Given the description of an element on the screen output the (x, y) to click on. 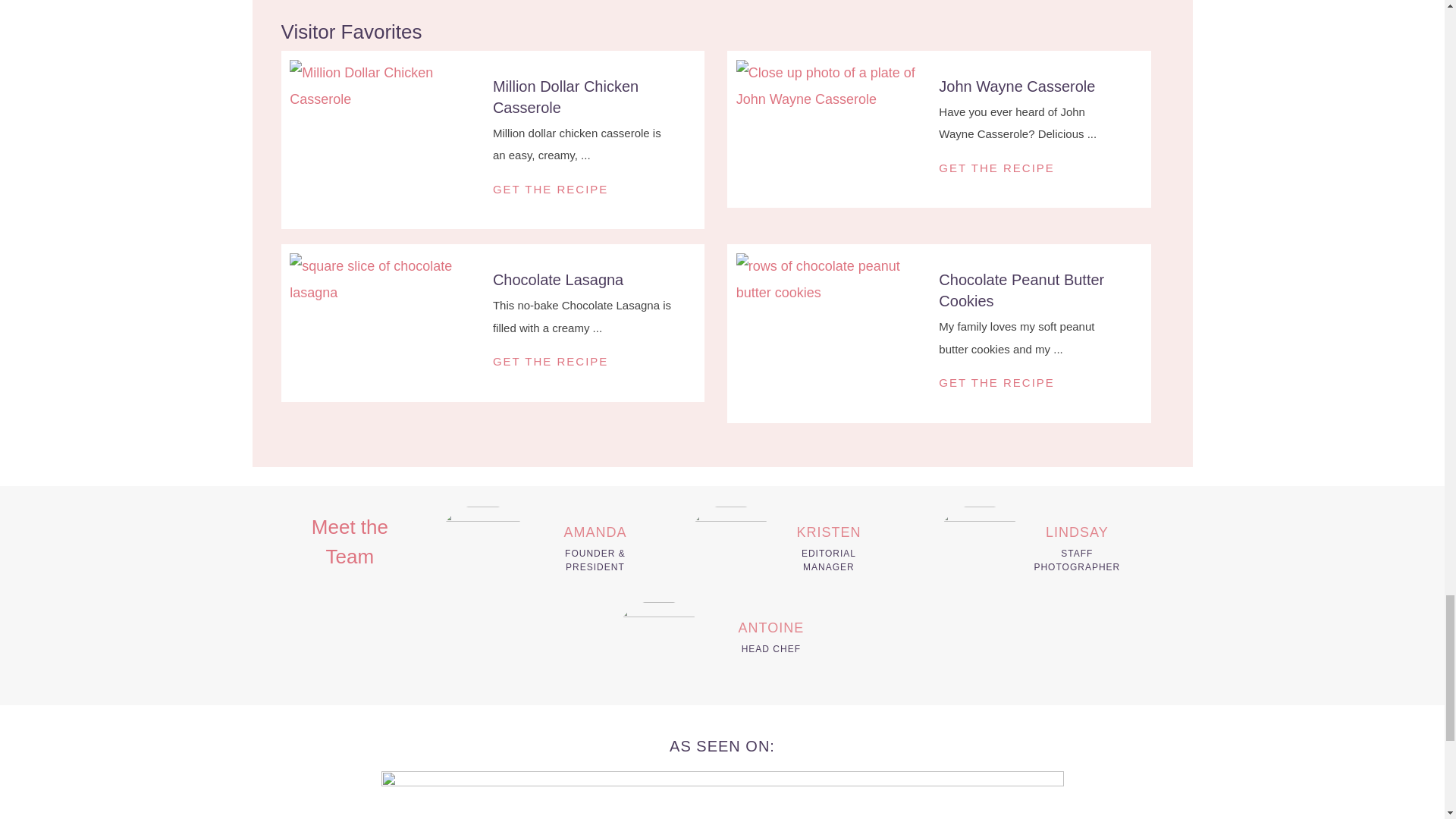
John Wayne Casserole (1016, 86)
Chocolate Lasagna (386, 280)
Chocolate Peanut Butter Cookies (833, 280)
John Wayne Casserole (833, 86)
Million Dollar Chicken Casserole (566, 96)
Million Dollar Chicken Casserole (386, 86)
Chocolate Peanut Butter Cookies (1021, 290)
Chocolate Lasagna (558, 279)
